Given the description of an element on the screen output the (x, y) to click on. 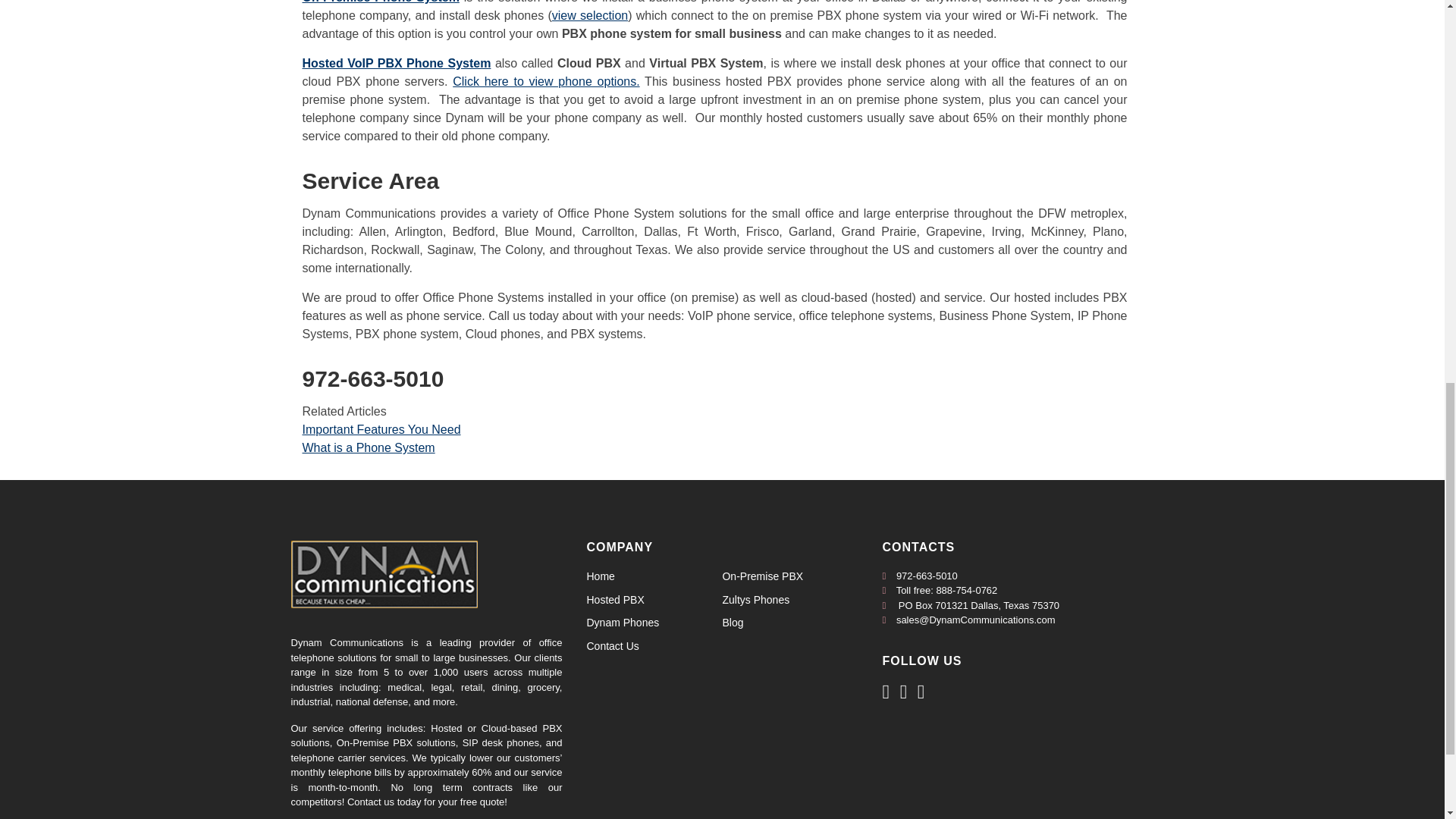
What is a Phone System (367, 447)
Hosted VoIP PBX Phone System (395, 62)
Important Features You Need (380, 429)
Click here to view phone options. (545, 81)
On-Premise PBX (762, 576)
Hosted PBX (615, 599)
On-Premise Phone System (379, 2)
Zultys Phones (755, 599)
Dynam Phones (622, 622)
972-663-5010 (927, 575)
Contact Us (612, 645)
view selection (589, 15)
Home (600, 576)
Blog (732, 622)
888-754-0762 (966, 590)
